Given the description of an element on the screen output the (x, y) to click on. 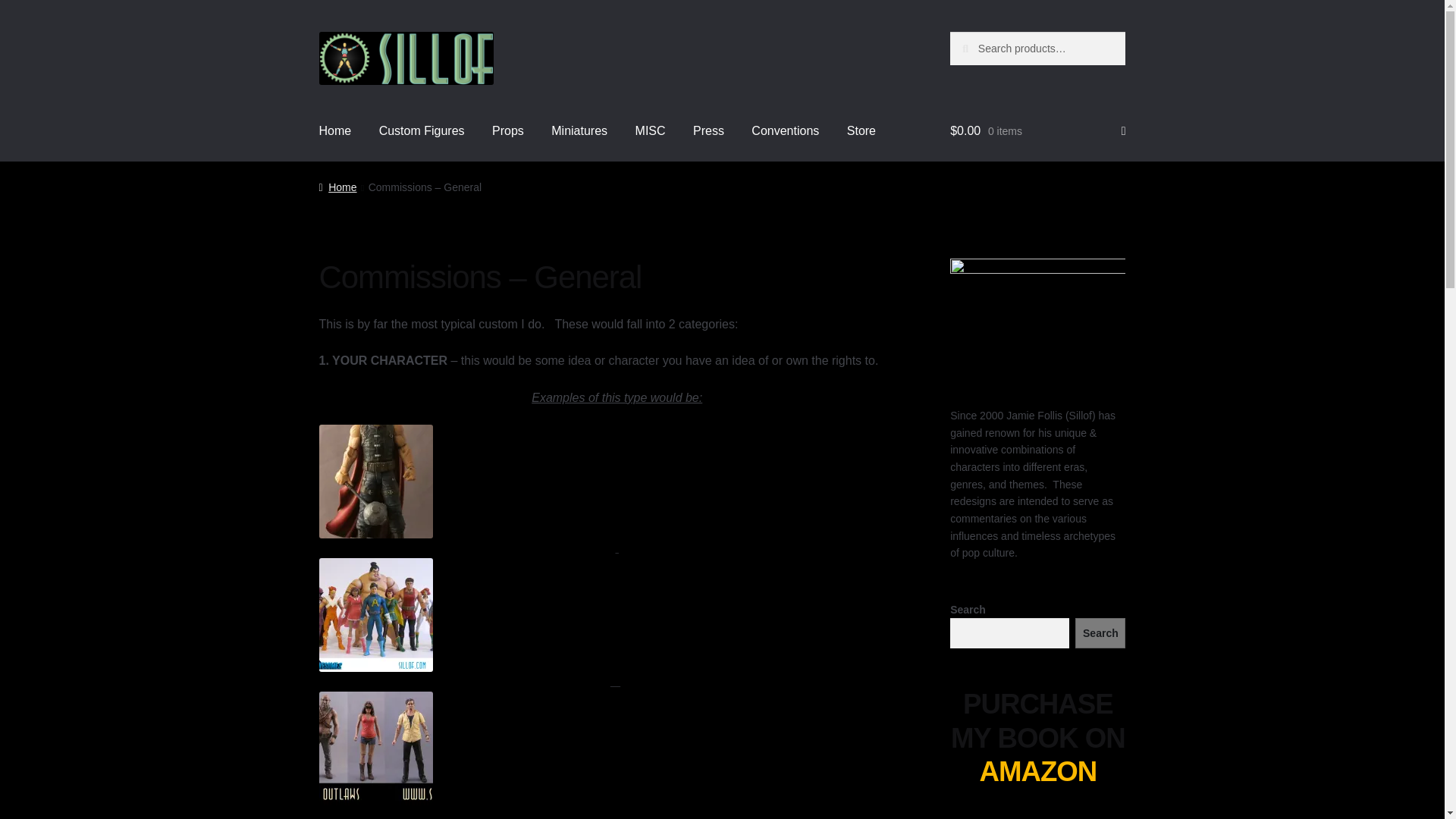
Search (1100, 633)
Store (861, 131)
Miniatures (579, 131)
View your shopping cart (1037, 131)
Conventions (785, 131)
Props (507, 131)
Press (708, 131)
